Given the description of an element on the screen output the (x, y) to click on. 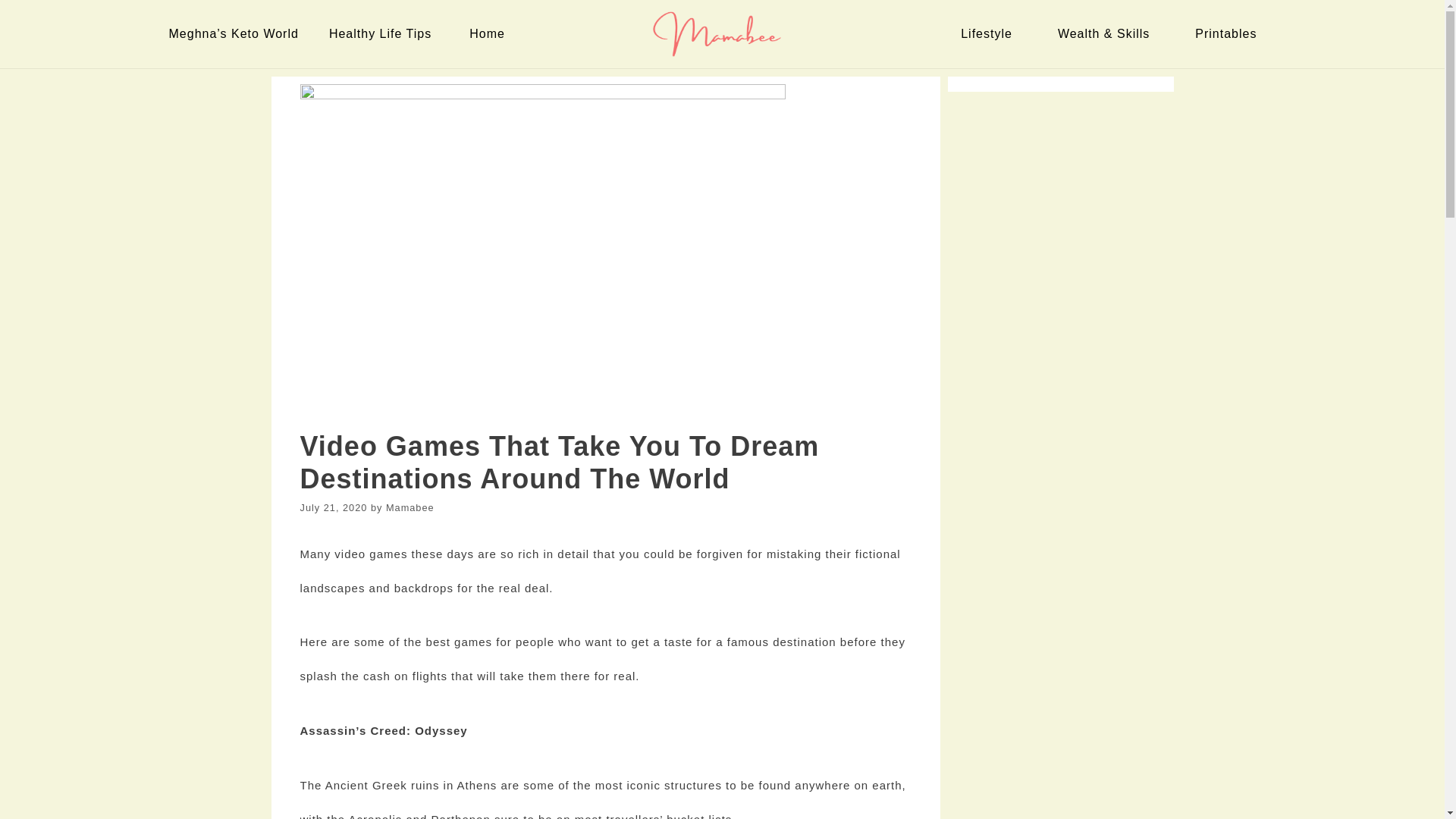
Healthy Life Tips (383, 33)
Home (490, 33)
View all posts by Mamabee (409, 507)
Lifestyle (989, 33)
